Given the description of an element on the screen output the (x, y) to click on. 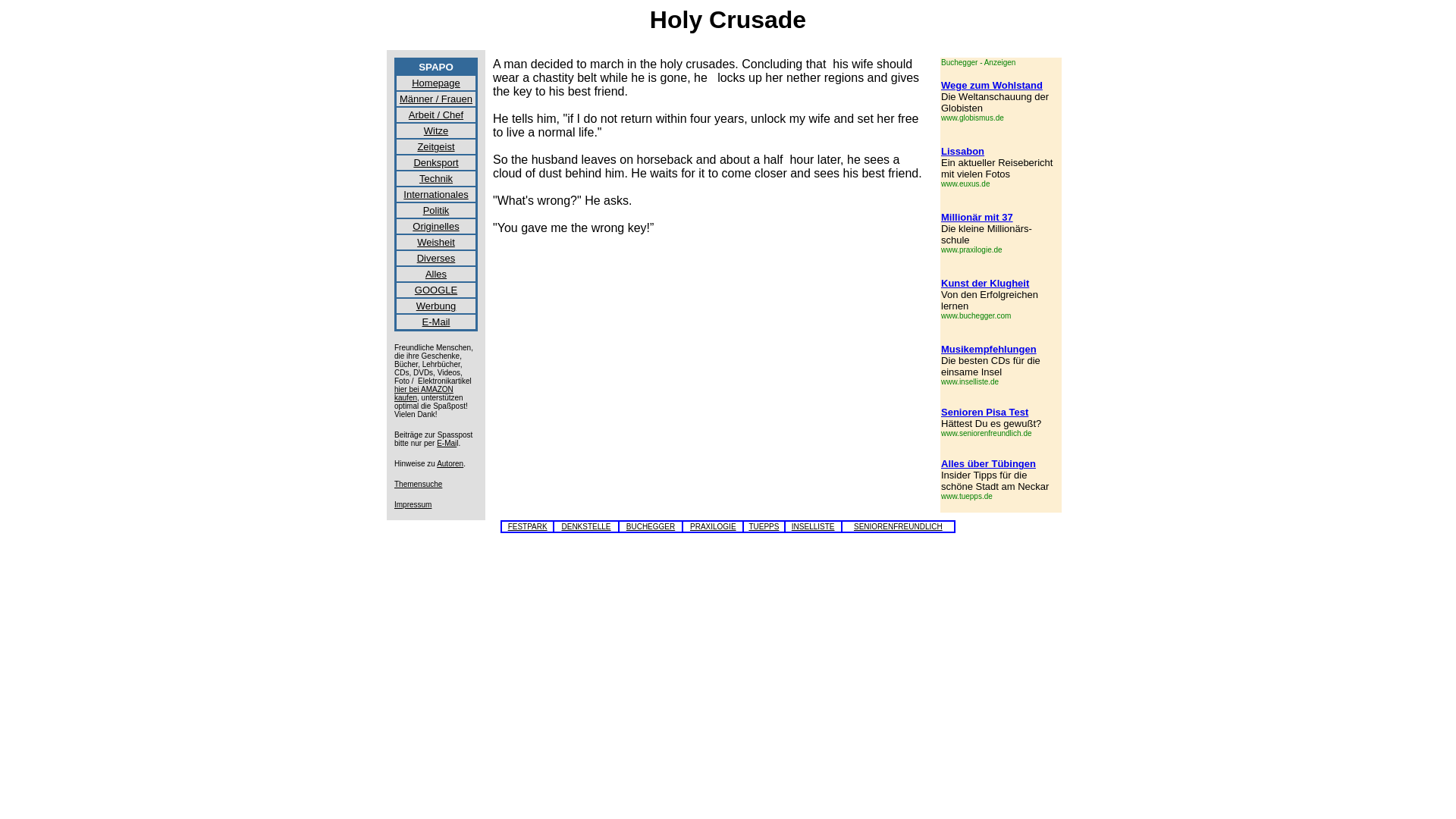
Alles (435, 274)
INSELLISTE (813, 526)
GOOGLE (435, 288)
FESTPARK (527, 526)
Werbung (436, 305)
Zeitgeist (435, 145)
Diverses (435, 256)
Weisheit (435, 241)
SENIORENFREUNDLICH (897, 526)
PRAXILOGIE (713, 526)
Denksport (435, 161)
E-Mai (446, 442)
Homepage (436, 82)
Internationales (435, 193)
Autoren (449, 463)
